Given the description of an element on the screen output the (x, y) to click on. 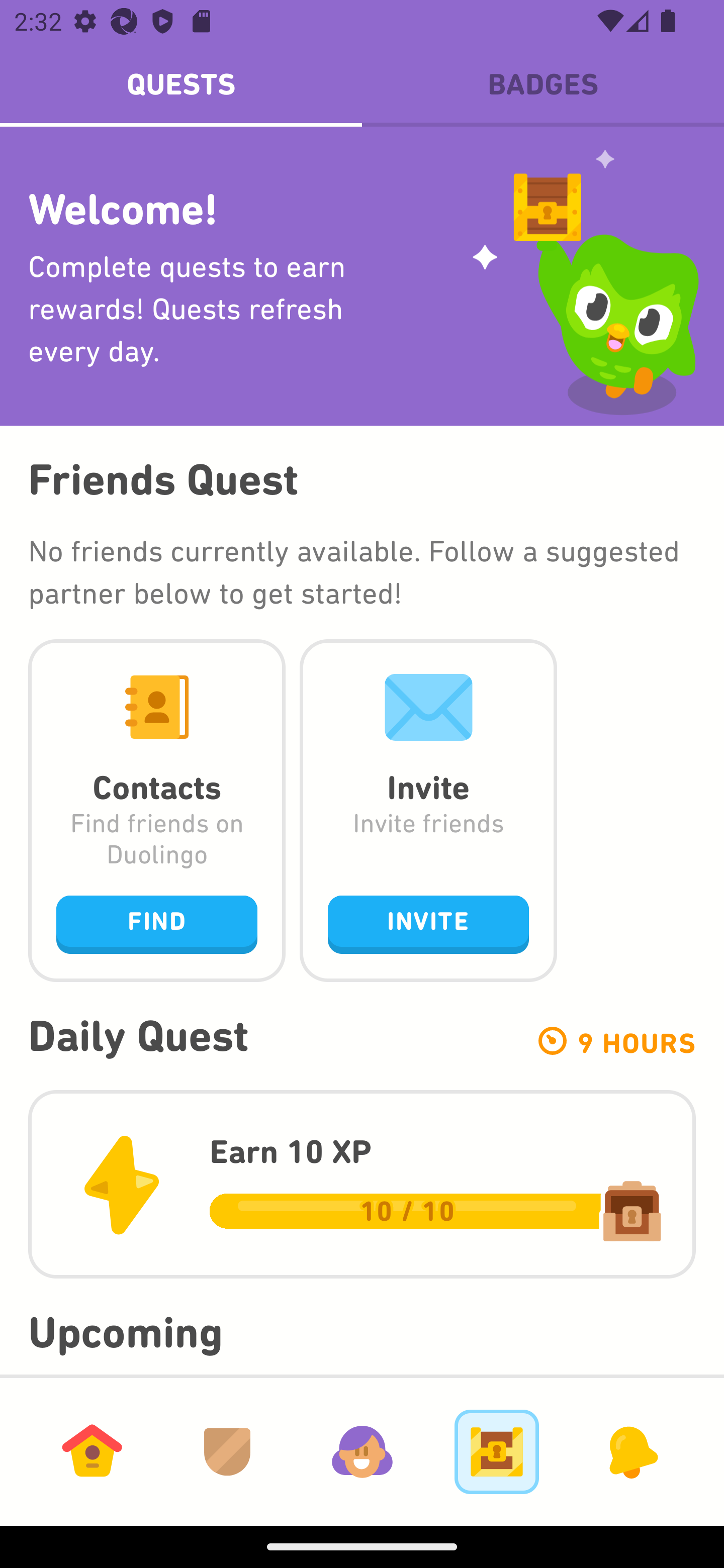
BADGES (543, 84)
FIND (156, 924)
INVITE (428, 924)
Learn Tab (91, 1451)
Leagues Tab (227, 1451)
Profile Tab (361, 1451)
Goals Tab (496, 1451)
News Tab (631, 1451)
